Given the description of an element on the screen output the (x, y) to click on. 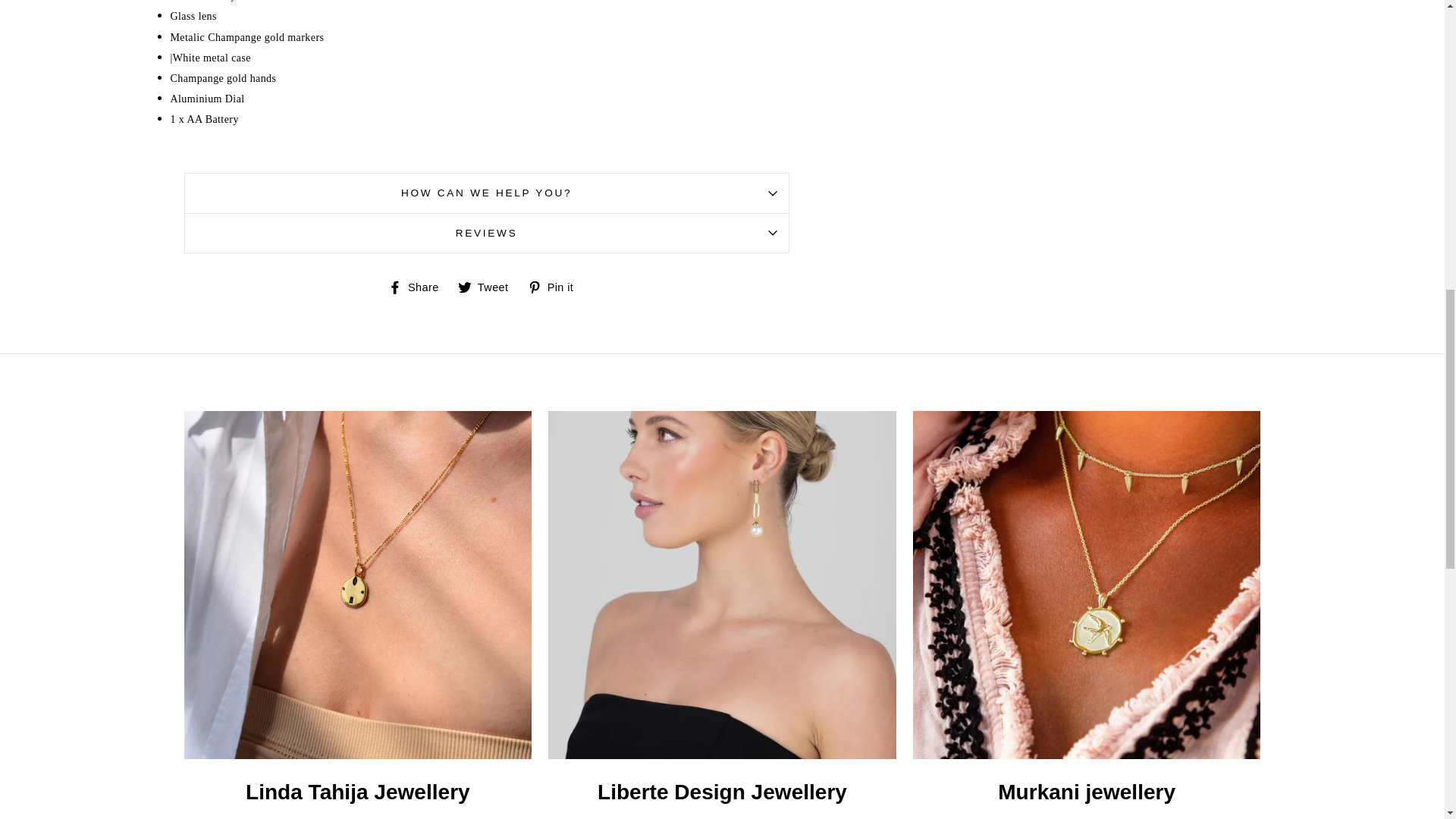
Share on Facebook (418, 286)
Tweet on Twitter (488, 286)
Pin on Pinterest (556, 286)
